Given the description of an element on the screen output the (x, y) to click on. 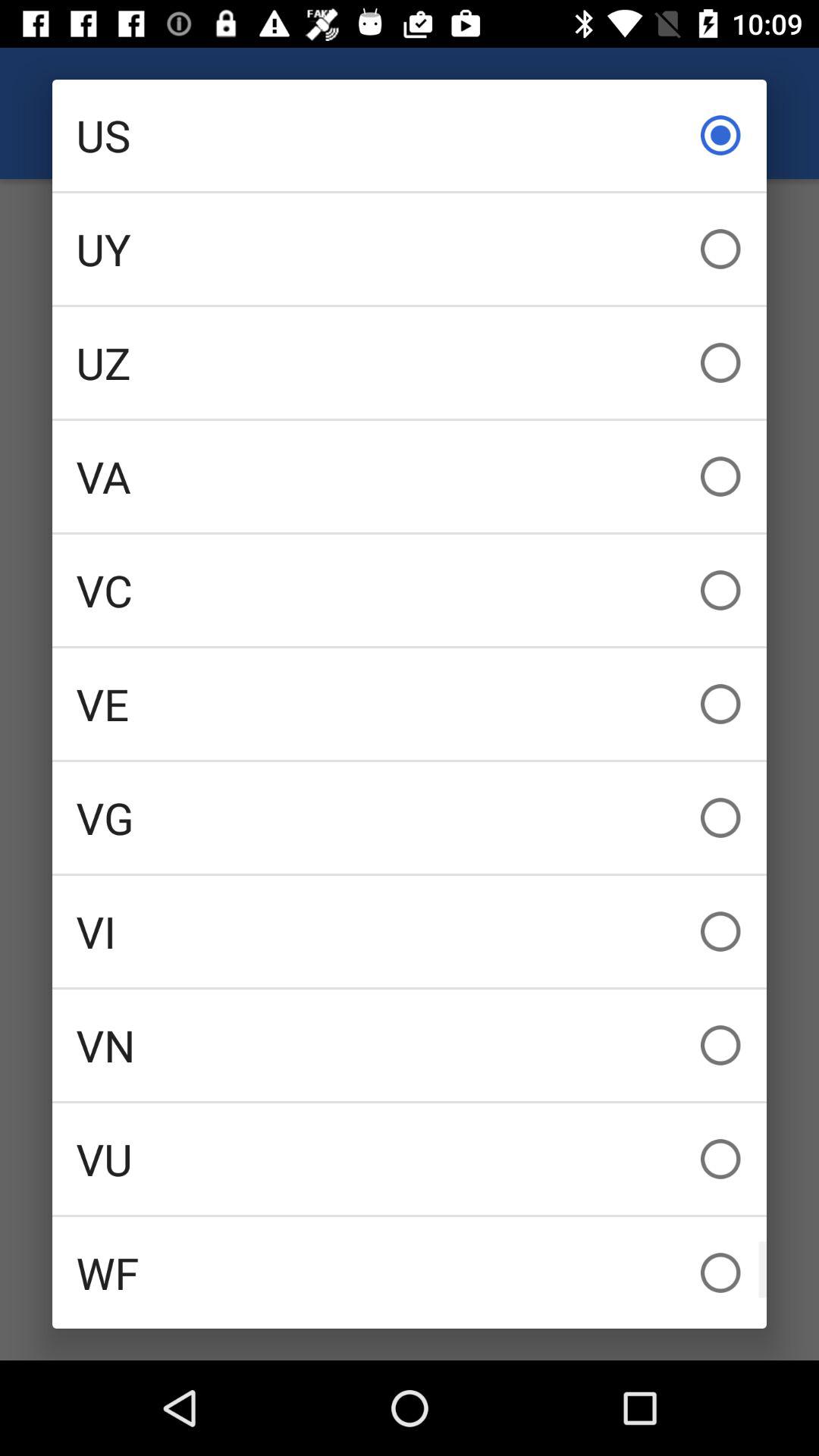
tap checkbox above uz item (409, 248)
